Given the description of an element on the screen output the (x, y) to click on. 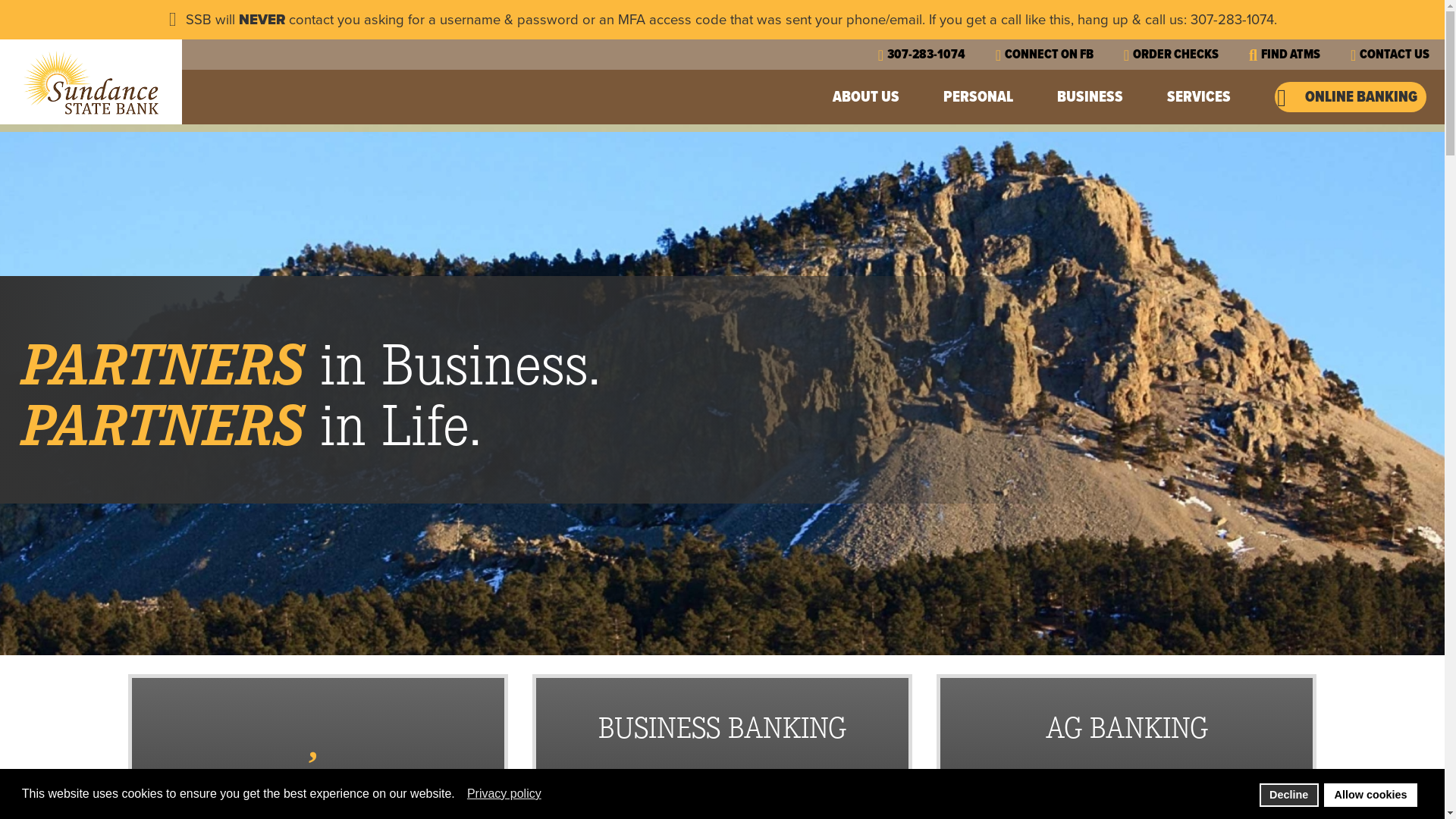
SERVICES Element type: text (1200, 96)
PERSONAL Element type: text (979, 96)
Decline Element type: text (1288, 794)
CONNECT ON FB Element type: text (1044, 53)
Allow cookies Element type: text (1370, 794)
FIND ATMS Element type: text (1284, 53)
CONTACT US Element type: text (1389, 53)
ABOUT US Element type: text (867, 96)
307-283-1074 Element type: text (921, 53)
Sundance State Bank Element type: hover (90, 81)
Privacy policy Element type: text (505, 793)
ONLINE BANKING Element type: text (1350, 96)
ORDER CHECKS Element type: text (1170, 53)
BUSINESS Element type: text (1091, 96)
